Given the description of an element on the screen output the (x, y) to click on. 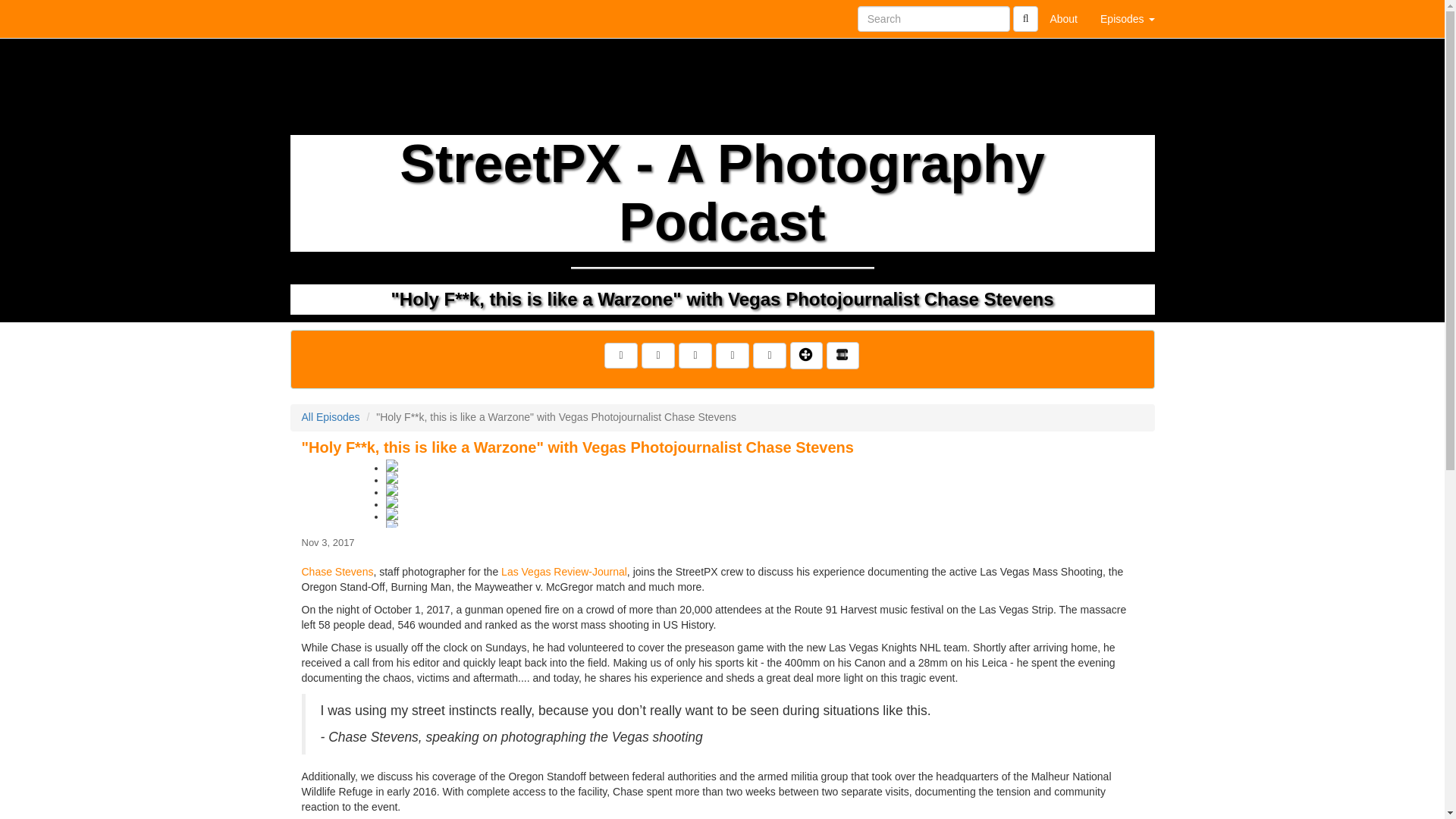
Episodes (1127, 18)
Home Page (320, 18)
About (1063, 18)
